Given the description of an element on the screen output the (x, y) to click on. 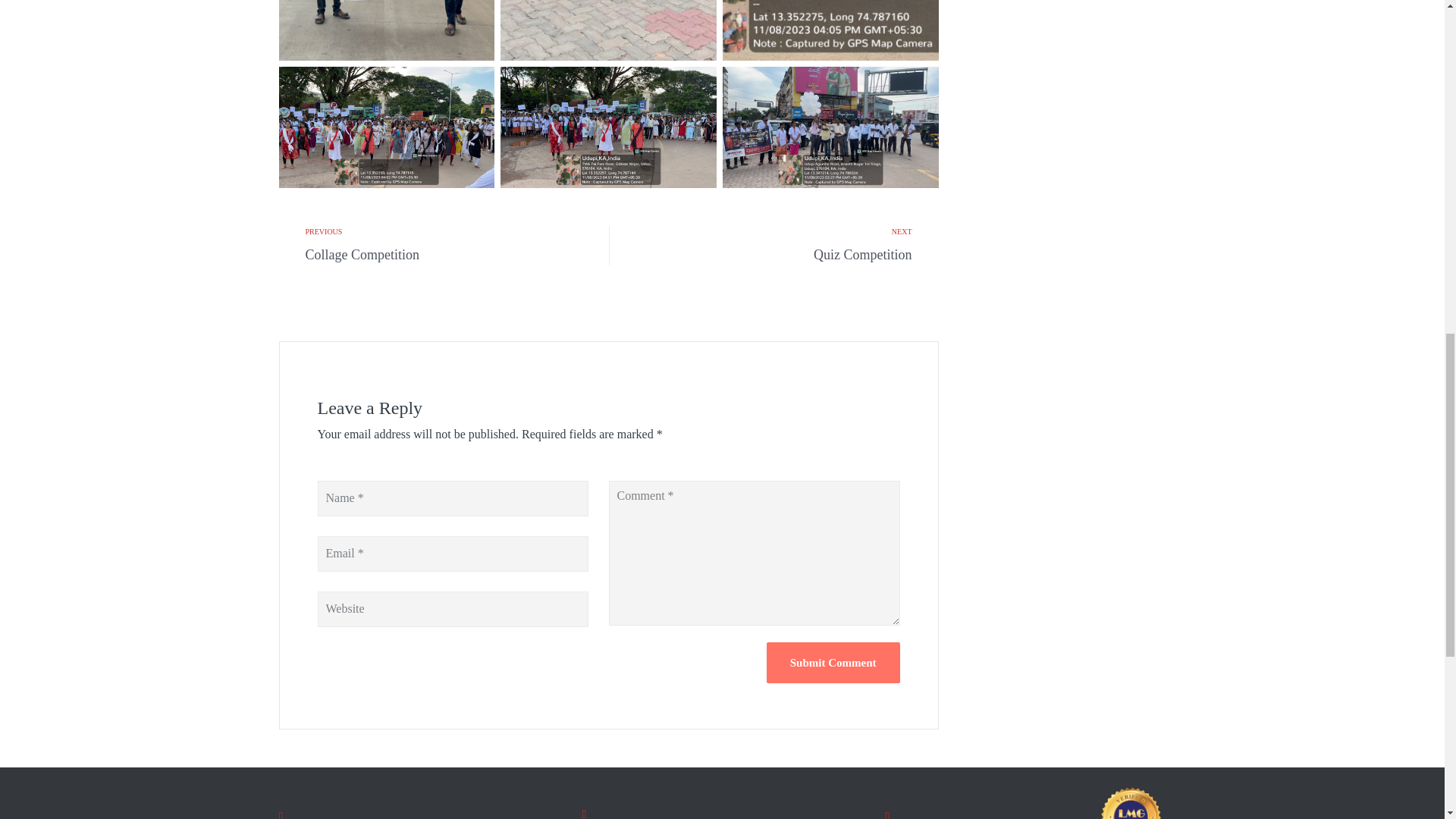
Submit Comment (833, 662)
LMG  Verified (1130, 803)
